Given the description of an element on the screen output the (x, y) to click on. 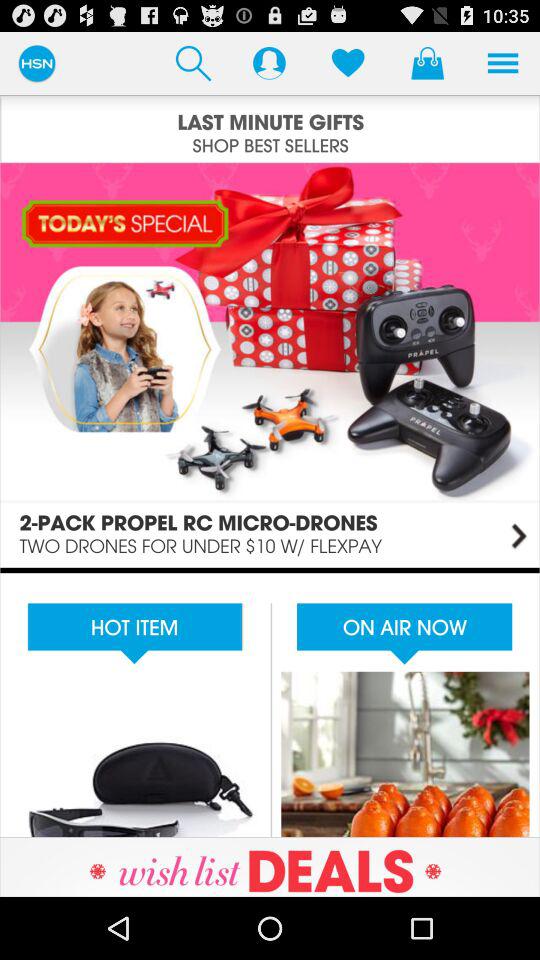
advertisement (269, 702)
